Given the description of an element on the screen output the (x, y) to click on. 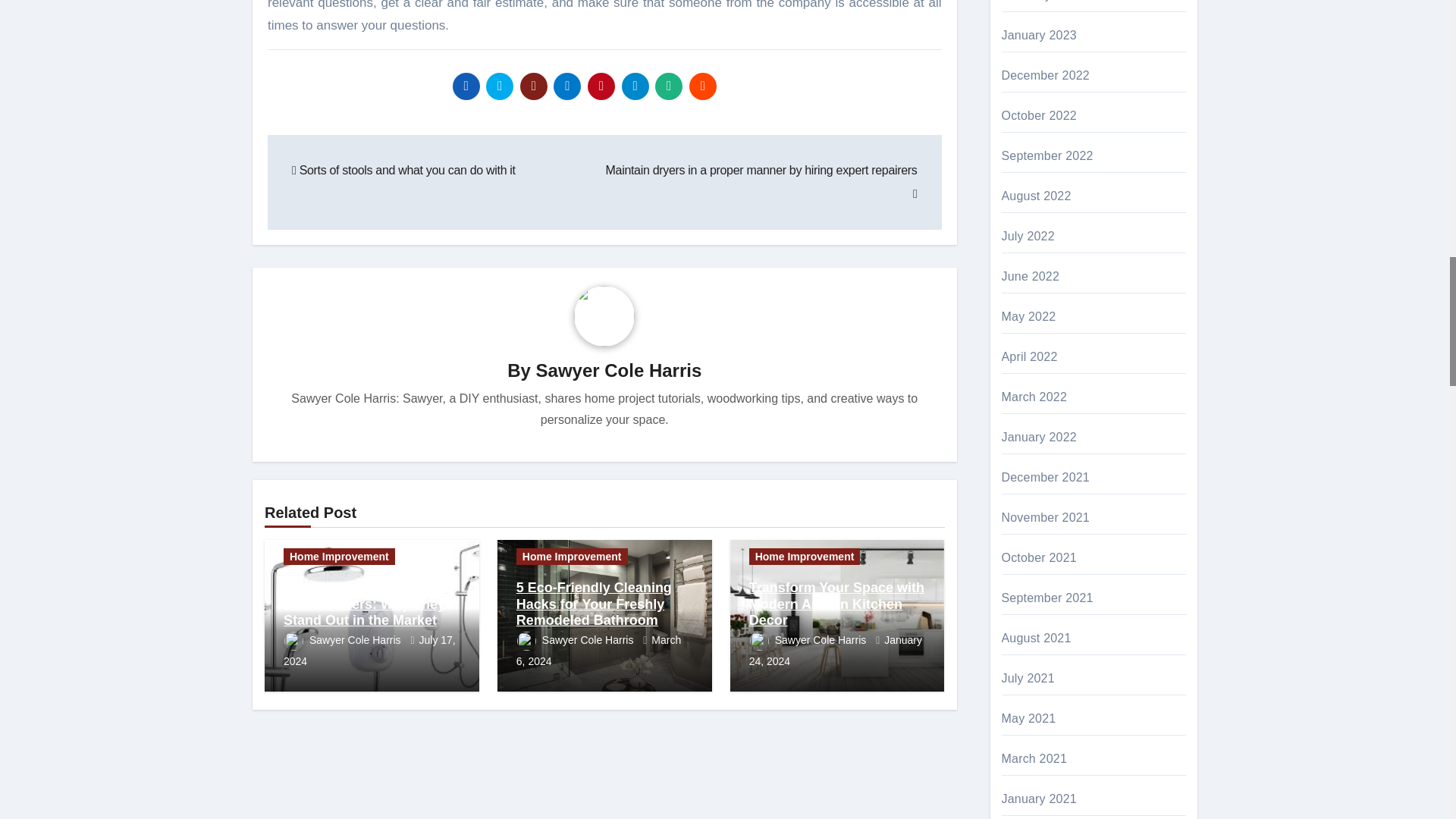
Sawyer Cole Harris (618, 370)
Sorts of stools and what you can do with it (403, 169)
Home Improvement (338, 556)
